Given the description of an element on the screen output the (x, y) to click on. 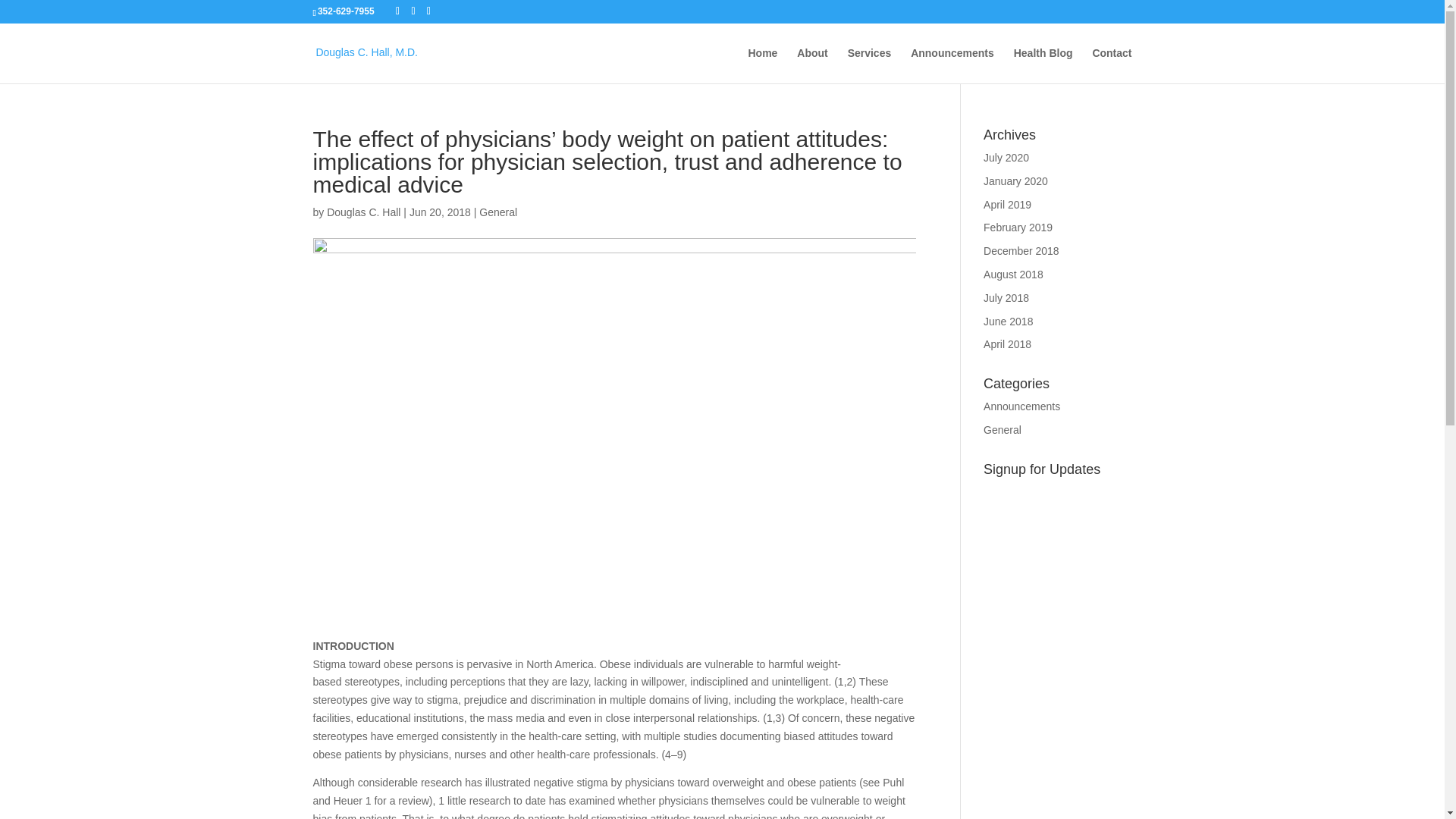
General (1003, 429)
Services (869, 65)
April 2019 (1007, 204)
Home (762, 65)
Contact (1111, 65)
June 2018 (1008, 321)
Douglas C. Hall, M.D. (366, 51)
Douglas C. Hall (363, 212)
August 2018 (1013, 274)
July 2018 (1006, 297)
February 2019 (1018, 227)
Posts by Douglas C. Hall (363, 212)
January 2020 (1016, 181)
July 2020 (1006, 157)
General (497, 212)
